Given the description of an element on the screen output the (x, y) to click on. 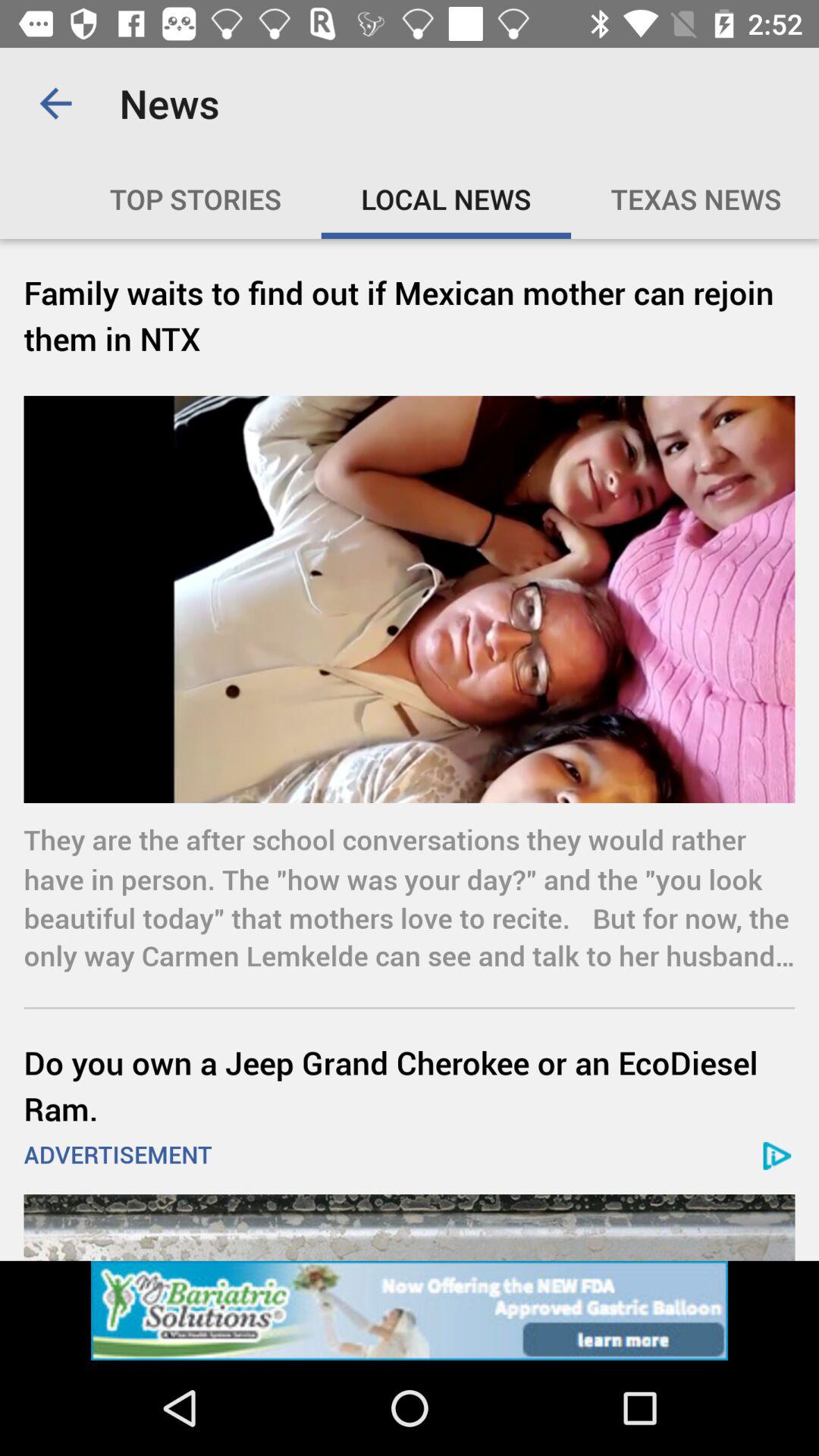
select the text above advertisement (409, 1085)
